Given the description of an element on the screen output the (x, y) to click on. 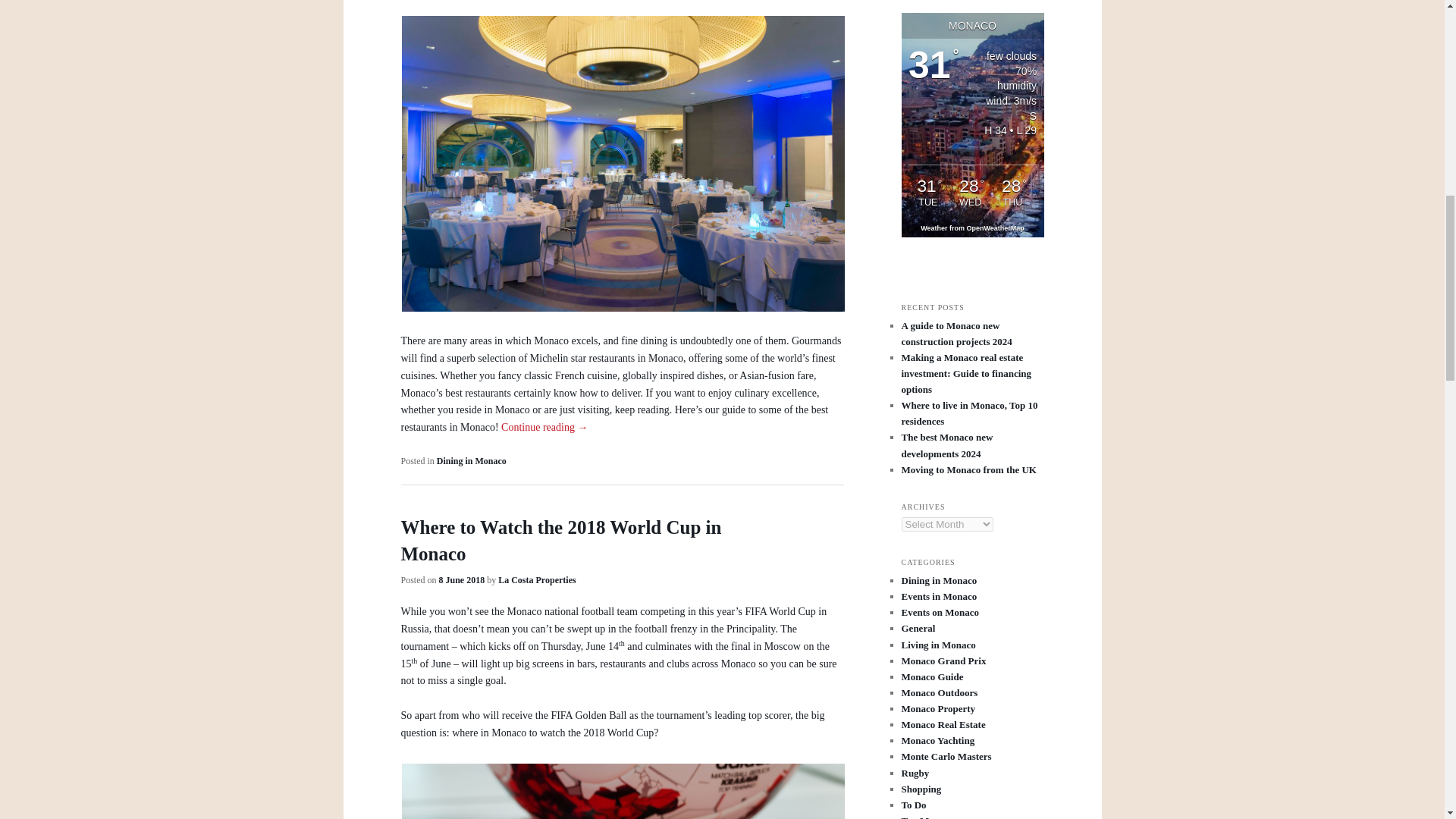
Where to Watch the 2018 World Cup in Monaco (560, 540)
11 h 24 min (461, 579)
La Costa Properties (536, 579)
8 June 2018 (461, 579)
Dining in Monaco (471, 460)
View all posts by La Costa Properties (536, 579)
Permalink to Where to Watch the 2018 World Cup in Monaco (560, 540)
